Given the description of an element on the screen output the (x, y) to click on. 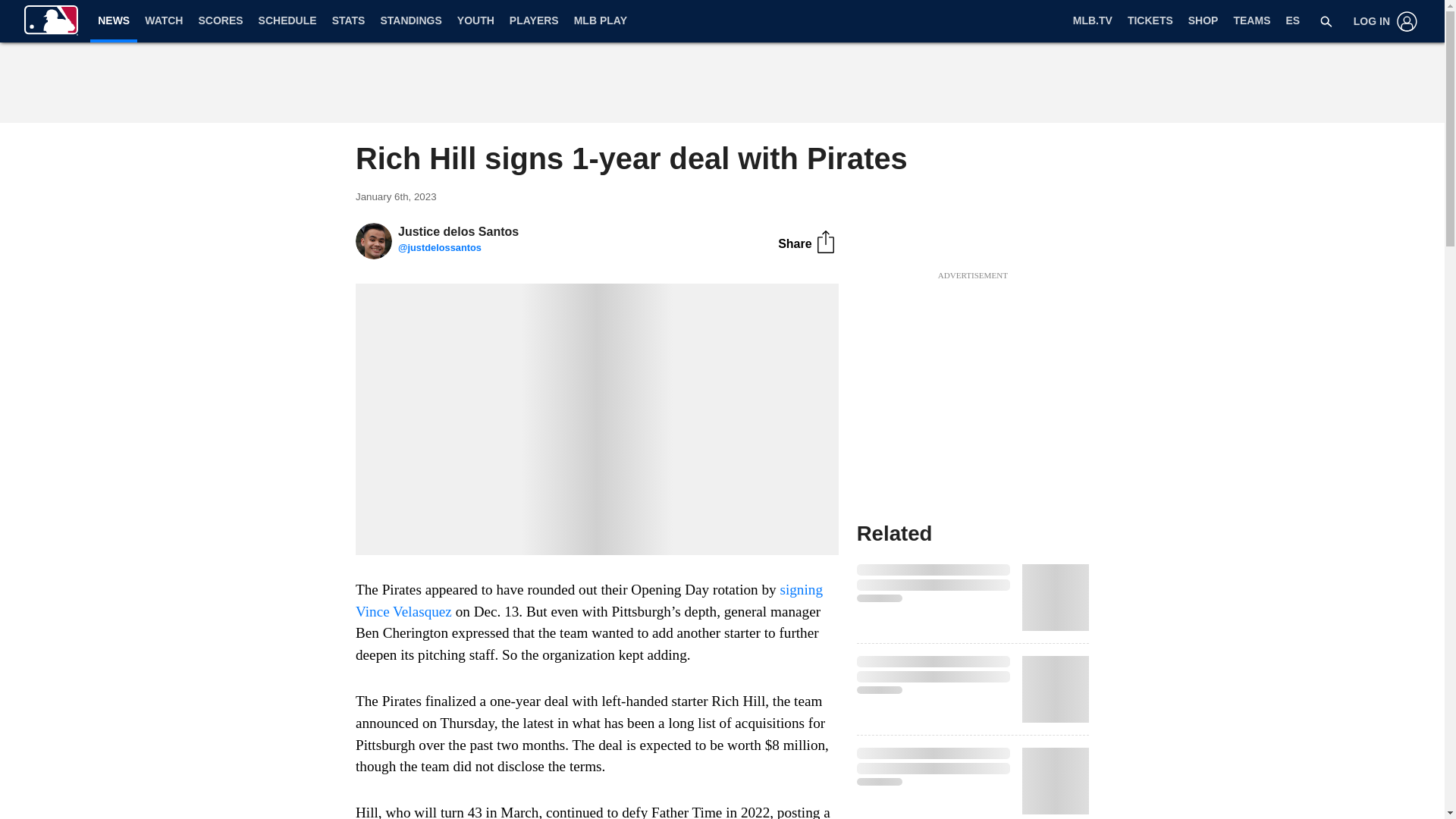
STATS (348, 21)
YOUTH (475, 21)
WATCH (163, 21)
share-square-2 (825, 241)
NEWS (113, 19)
SCORES (220, 21)
STANDINGS (410, 21)
search-2 (1326, 21)
SCHEDULE (287, 21)
